Given the description of an element on the screen output the (x, y) to click on. 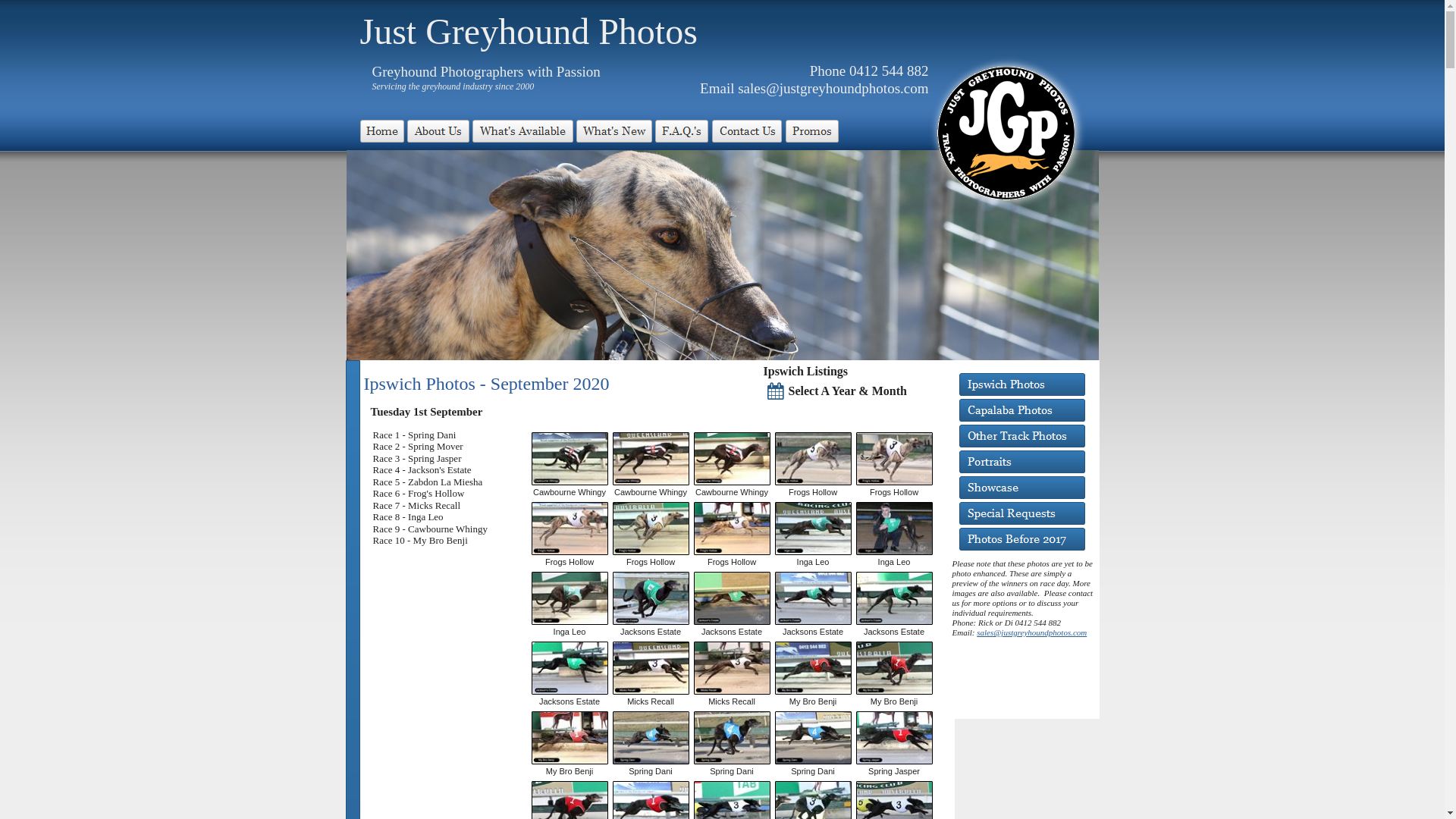
Inga Leo Element type: hover (568, 597)
Other Track Photos Element type: hover (1021, 435)
What's Available Element type: hover (521, 130)
Inga Leo Element type: hover (893, 528)
Promos Element type: hover (811, 130)
Frogs Hollow Element type: hover (650, 528)
My Bro Benji Element type: hover (813, 667)
Micks Recall Element type: hover (731, 667)
Frogs Hollow Element type: hover (731, 528)
Jacksons Estate Element type: hover (893, 597)
Capalaba Photos Element type: hover (1021, 409)
My Bro Benji Element type: hover (893, 667)
Cawbourne Whingy Element type: hover (650, 458)
FAQs Element type: hover (682, 130)
About Us Element type: hover (437, 130)
Cawbourne Whingy Element type: hover (731, 458)
Spring Dani Element type: hover (813, 737)
Inga Leo Element type: hover (813, 528)
Spring Dani Element type: hover (650, 737)
Contact Us Element type: hover (746, 130)
Showcase Element type: hover (1021, 487)
What's New Element type: hover (614, 130)
Jacksons Estate Element type: hover (568, 667)
Frogs Hollow Element type: hover (568, 528)
My Bro Benji Element type: hover (568, 737)
Special Requests Element type: hover (1021, 513)
Frogs Hollow Element type: hover (813, 458)
Frogs Hollow Element type: hover (893, 458)
Micks Recall Element type: hover (650, 667)
Cawbourne Whingy Element type: hover (568, 458)
Jacksons Estate Element type: hover (813, 597)
sales@justgreyhoundphotos.com Element type: text (1031, 632)
Home Element type: hover (381, 130)
Ipswich Calendar Element type: hover (774, 390)
Spring Jasper Element type: hover (893, 737)
Jacksons Estate Element type: hover (650, 597)
Portraits Element type: hover (1021, 461)
Photos Before 2017 Element type: hover (1021, 538)
Jacksons Estate Element type: hover (731, 597)
Spring Dani Element type: hover (731, 737)
Ipswich Photos Element type: hover (1021, 384)
